Given the description of an element on the screen output the (x, y) to click on. 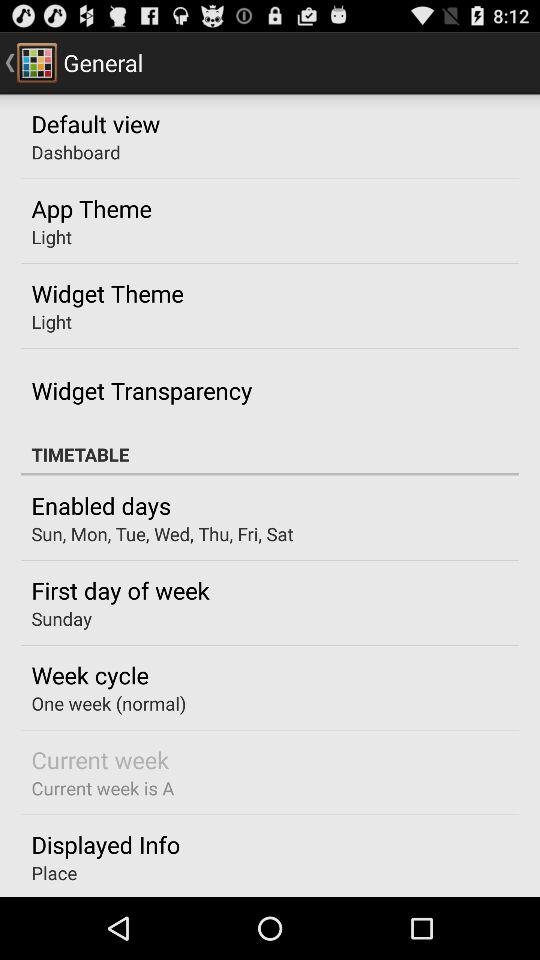
tap the item below the first day of (61, 618)
